Given the description of an element on the screen output the (x, y) to click on. 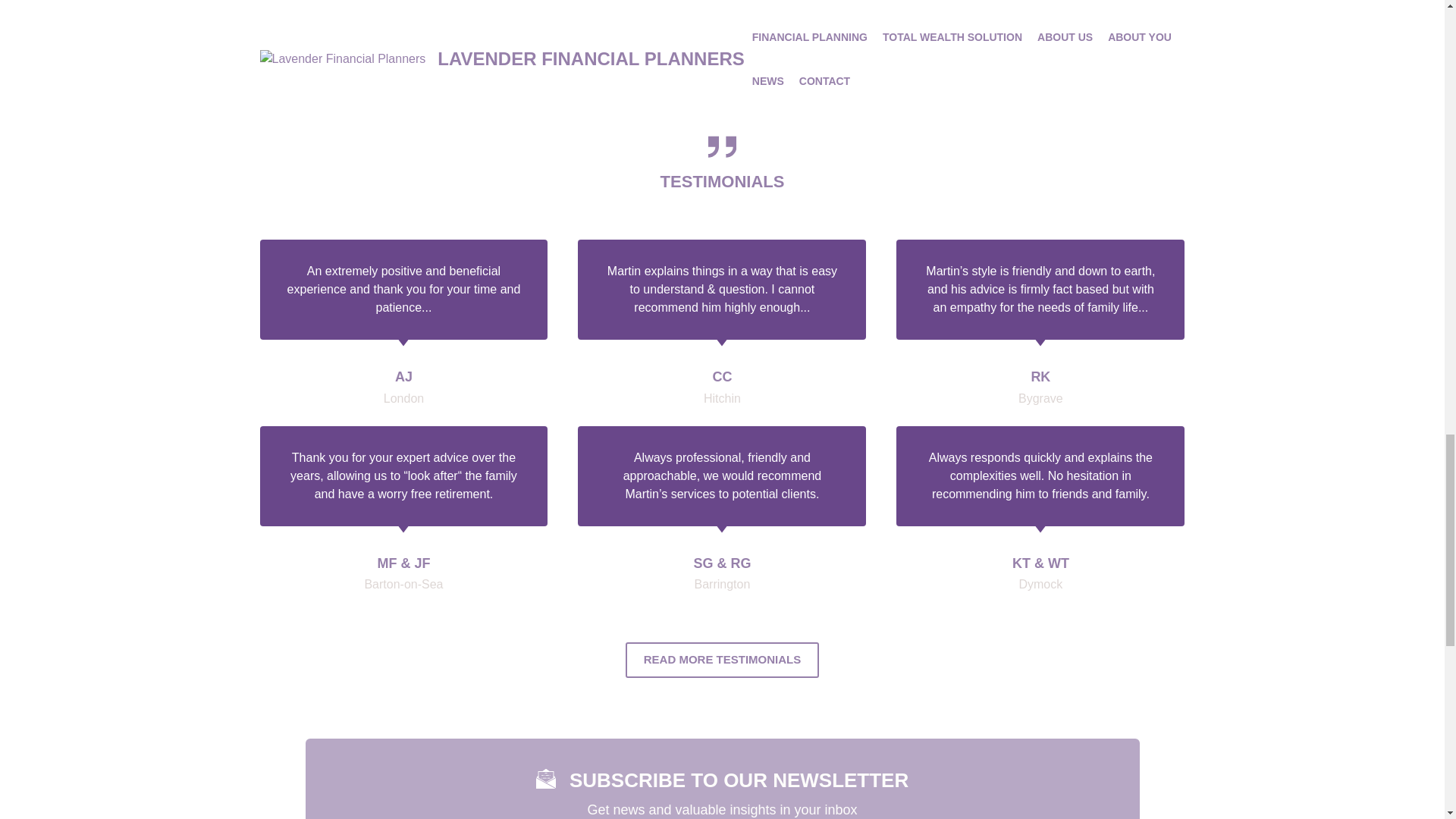
READ MORE TESTIMONIALS (722, 615)
Subscribe (1000, 816)
Subscribe (1000, 816)
